Given the description of an element on the screen output the (x, y) to click on. 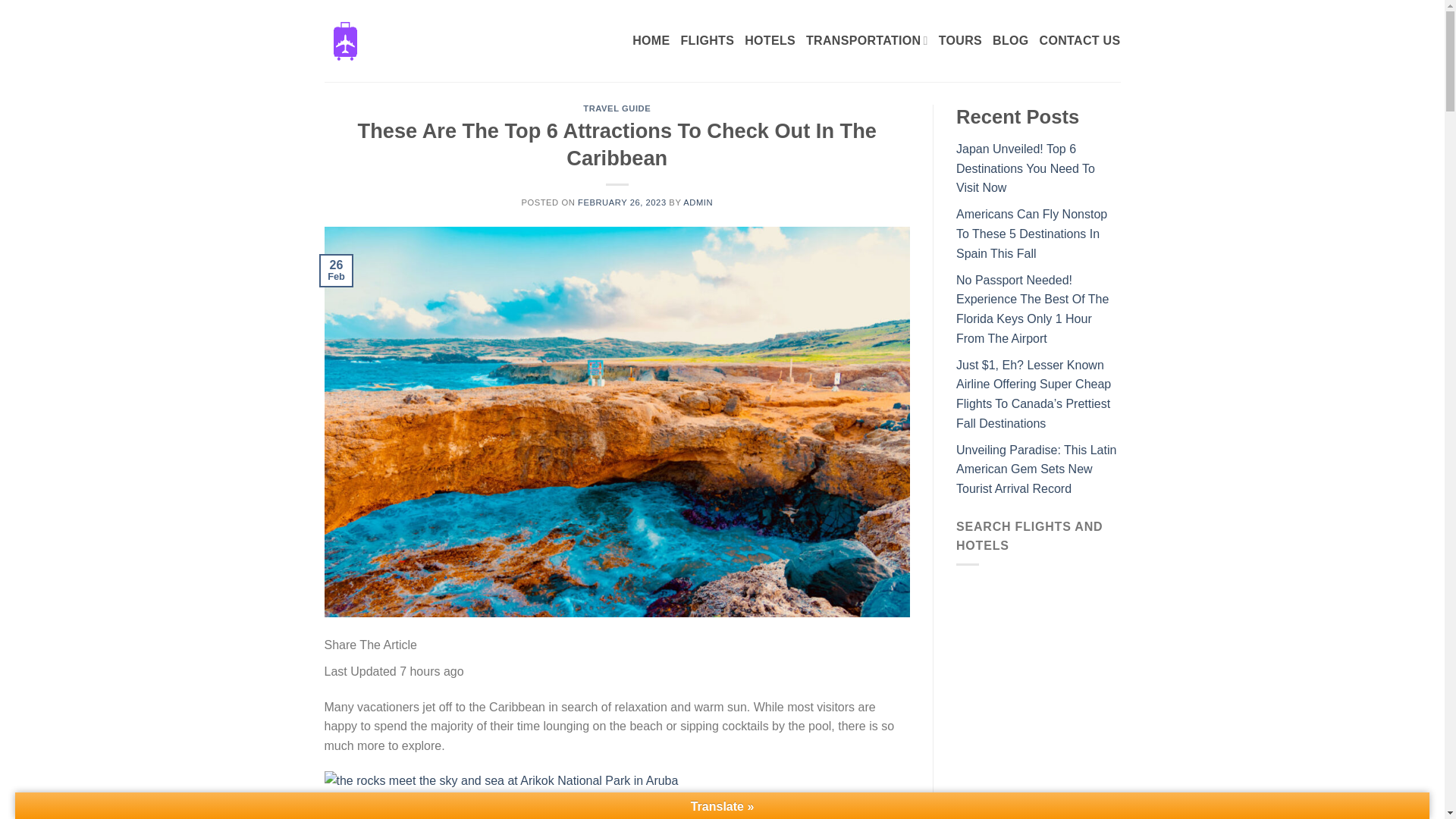
FEBRUARY 26, 2023 (622, 202)
TRAVEL GUIDE (616, 108)
FLIGHTS (706, 40)
TOURS (960, 40)
ADMIN (697, 202)
CONTACT US (1080, 40)
HOTELS (769, 40)
HOME (650, 40)
10euro.travel - Get Best Deals on Flights and Hotels (345, 40)
TRANSPORTATION (867, 40)
